Given the description of an element on the screen output the (x, y) to click on. 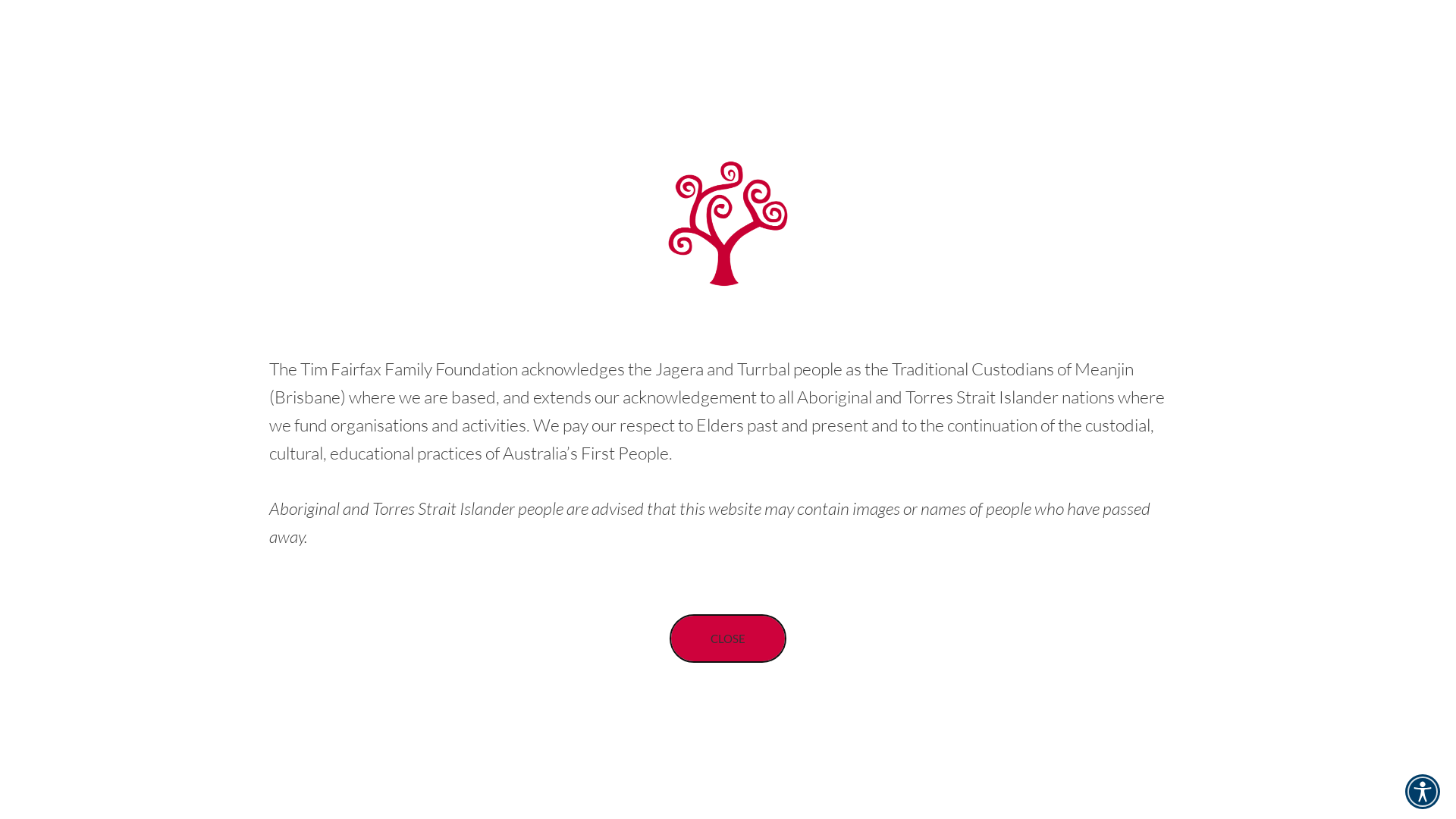
News & Impact Element type: text (1112, 67)
CLOSE Element type: text (727, 637)
Darwin Aboriginal Art Fair (DAAF) Element type: text (407, 379)
Contact Us Element type: text (1217, 67)
SEARCH Element type: text (1333, 67)
About Element type: text (1022, 67)
